Given the description of an element on the screen output the (x, y) to click on. 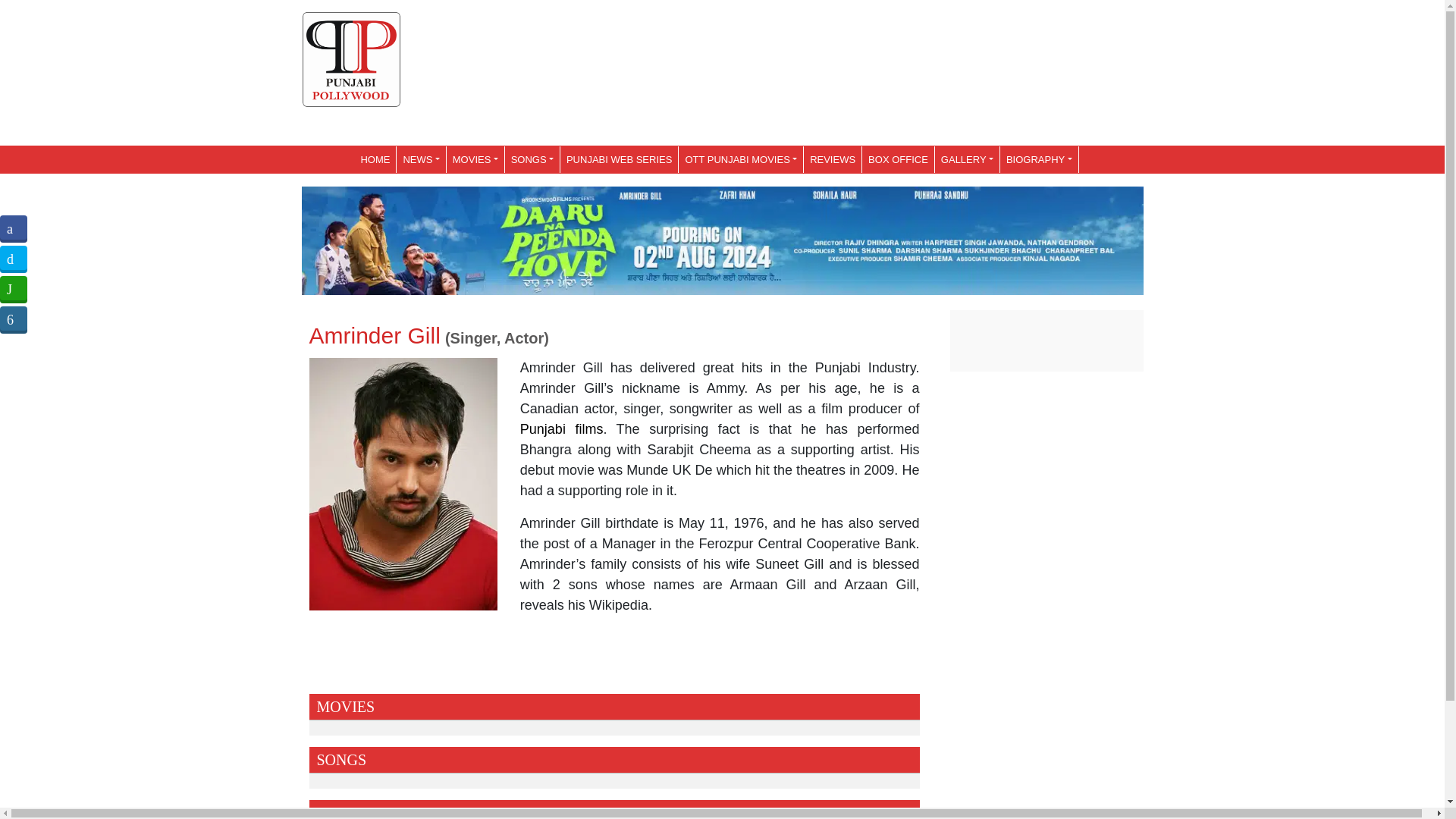
MOVIES (474, 159)
PUNJABI WEB SERIES (619, 159)
REVIEWS (832, 159)
BIOGRAPHY (1039, 159)
NEWS (420, 159)
BOX OFFICE (897, 159)
HOME (374, 159)
GALLERY (966, 159)
OTT PUNJABI MOVIES (740, 159)
SONGS (532, 159)
